Given the description of an element on the screen output the (x, y) to click on. 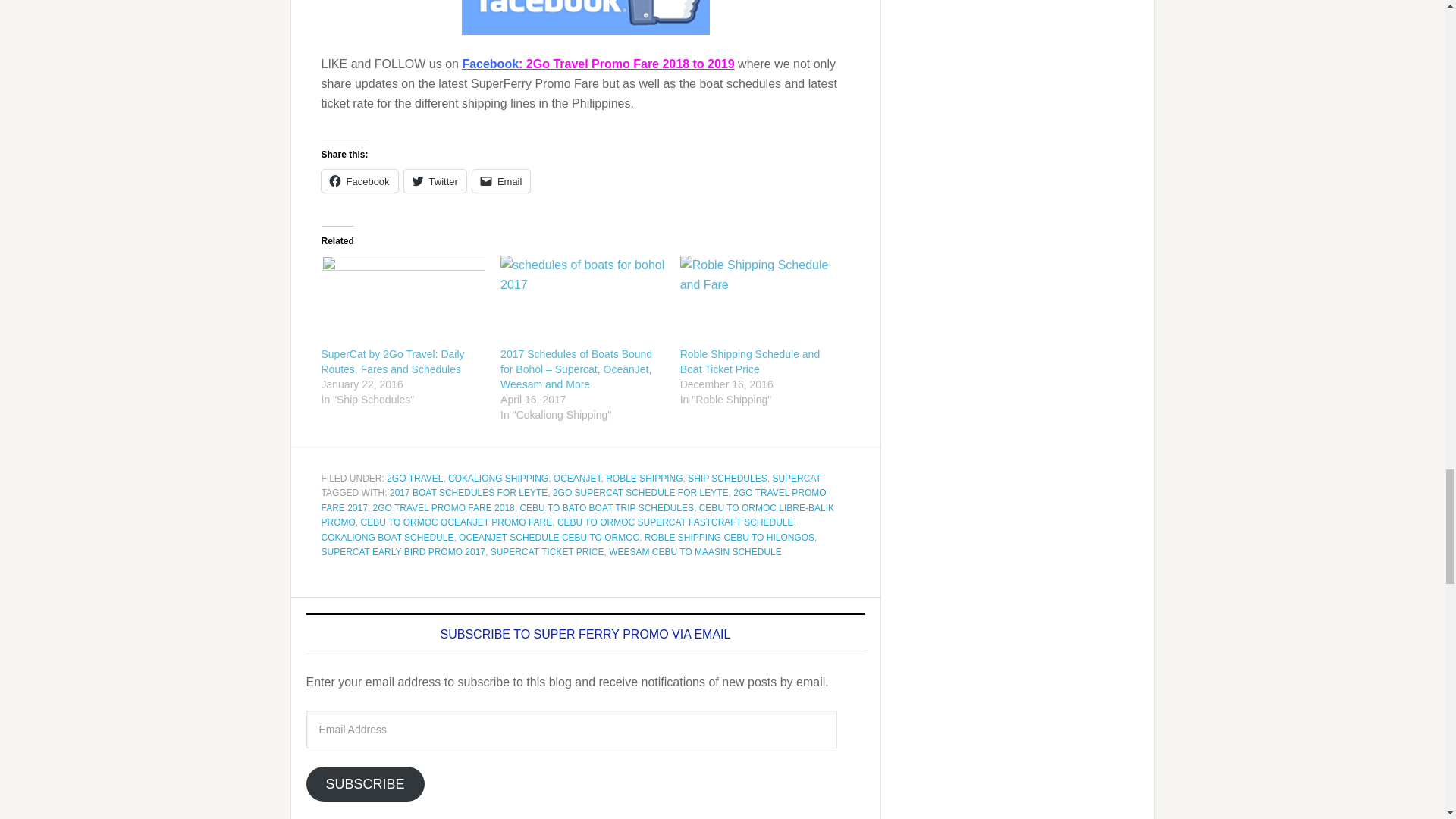
Facebook: 2Go Travel Promo Fare (561, 63)
Facebook (359, 180)
CEBU TO ORMOC LIBRE-BALIK PROMO (577, 515)
Click to email a link to a friend (501, 180)
Roble Shipping Schedule and Boat Ticket Price (749, 361)
SuperCat by 2Go Travel: Daily Routes, Fares and Schedules (392, 361)
2017 BOAT SCHEDULES FOR LEYTE (468, 492)
2GO TRAVEL (414, 478)
2GO SUPERCAT SCHEDULE FOR LEYTE (641, 492)
SuperCat by 2Go Travel: Daily Routes, Fares and Schedules (392, 361)
